Given the description of an element on the screen output the (x, y) to click on. 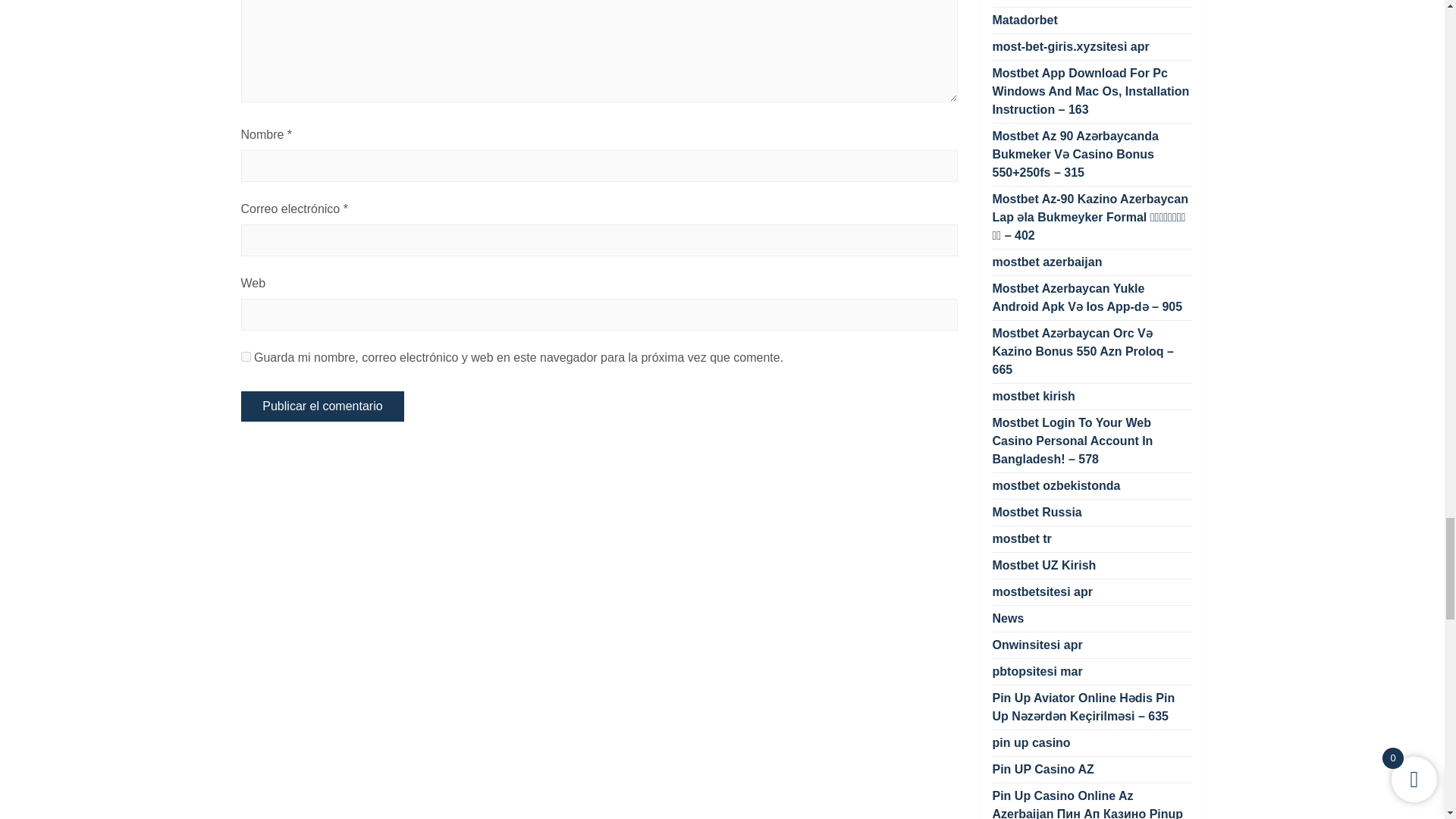
Publicar el comentario (322, 406)
Publicar el comentario (322, 406)
yes (245, 356)
